Given the description of an element on the screen output the (x, y) to click on. 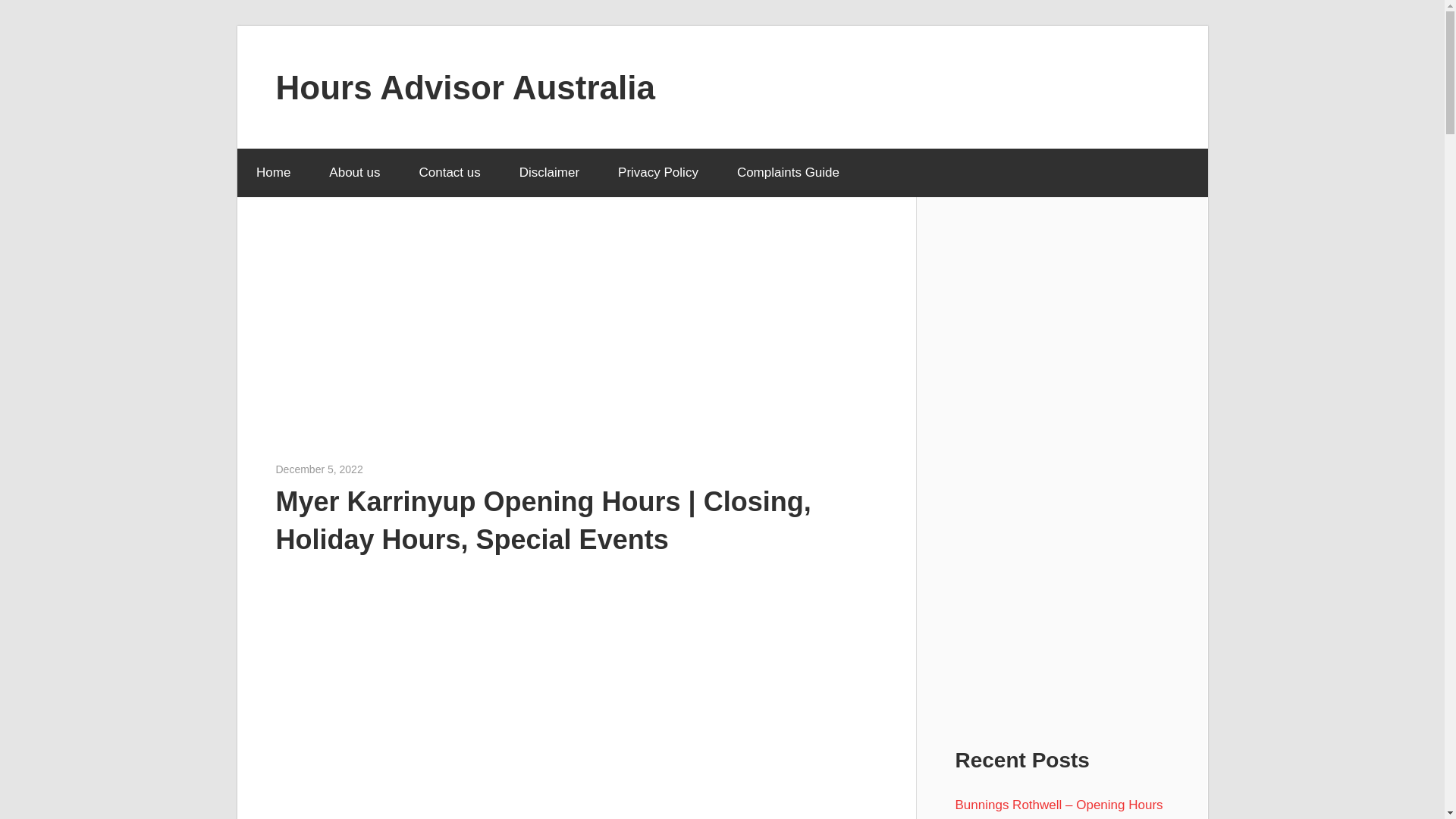
Privacy Policy (657, 172)
Home (271, 172)
Advertisement (576, 347)
8:44 am (319, 469)
ronnyauguide (395, 469)
December 5, 2022 (319, 469)
About us (354, 172)
View all posts by ronnyauguide (395, 469)
Complaints Guide (788, 172)
